Given the description of an element on the screen output the (x, y) to click on. 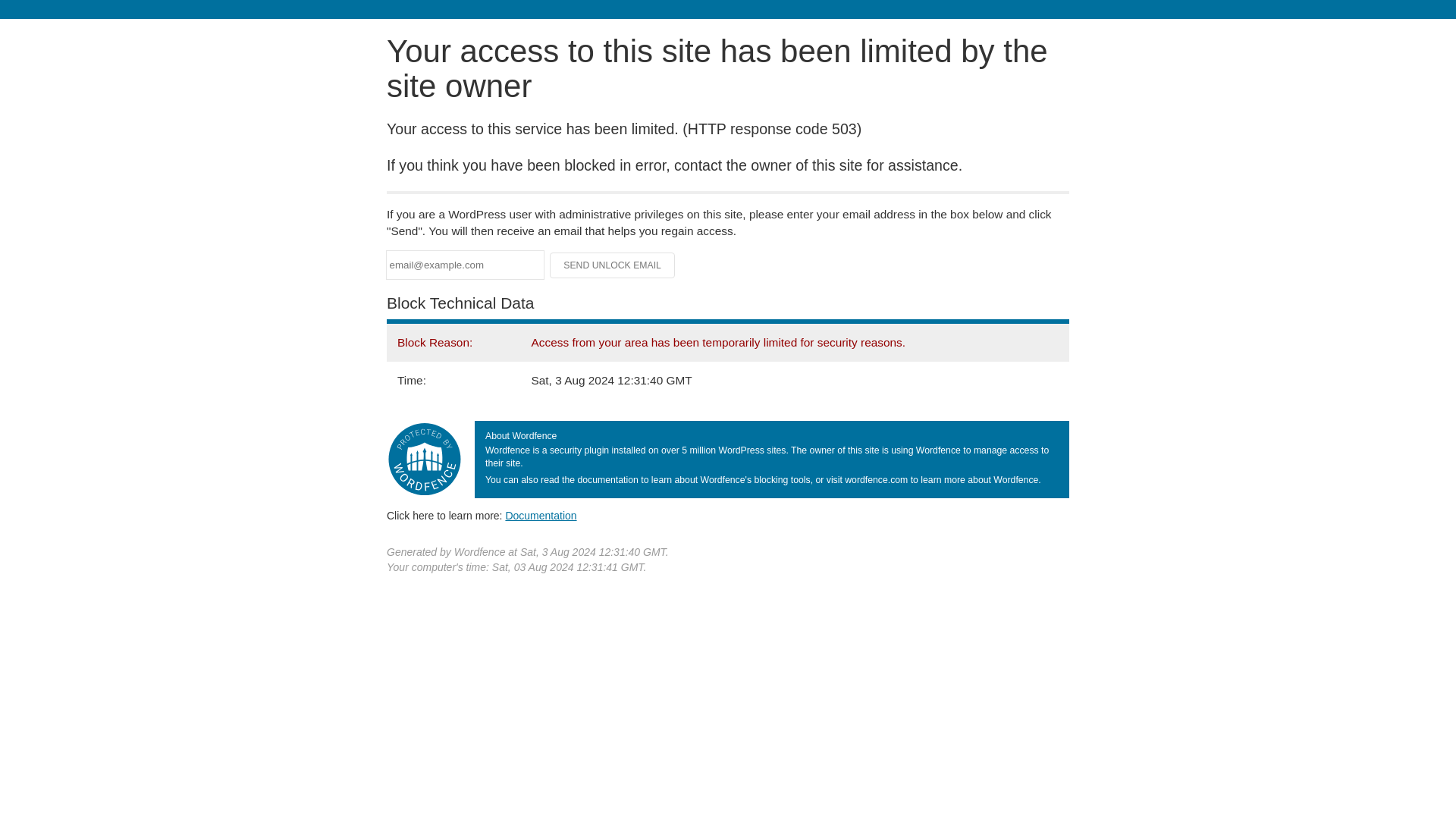
Documentation (540, 515)
Send Unlock Email (612, 265)
Send Unlock Email (612, 265)
